Given the description of an element on the screen output the (x, y) to click on. 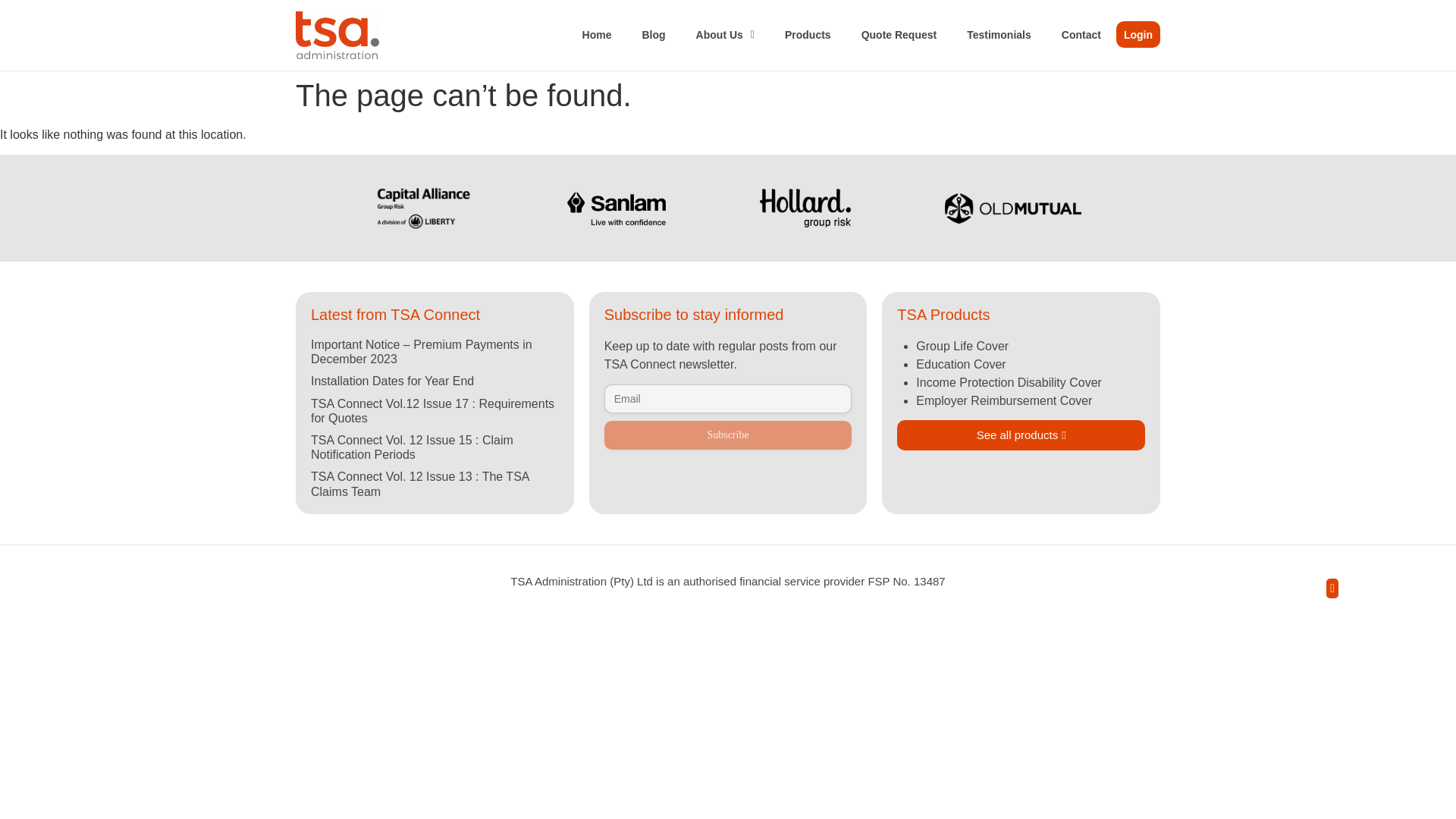
Contact (1081, 34)
Subscribe (727, 434)
Blog (652, 34)
Home (597, 34)
Testimonials (999, 34)
Login (1138, 34)
Quote Request (898, 34)
Products (807, 34)
About Us (725, 34)
